Given the description of an element on the screen output the (x, y) to click on. 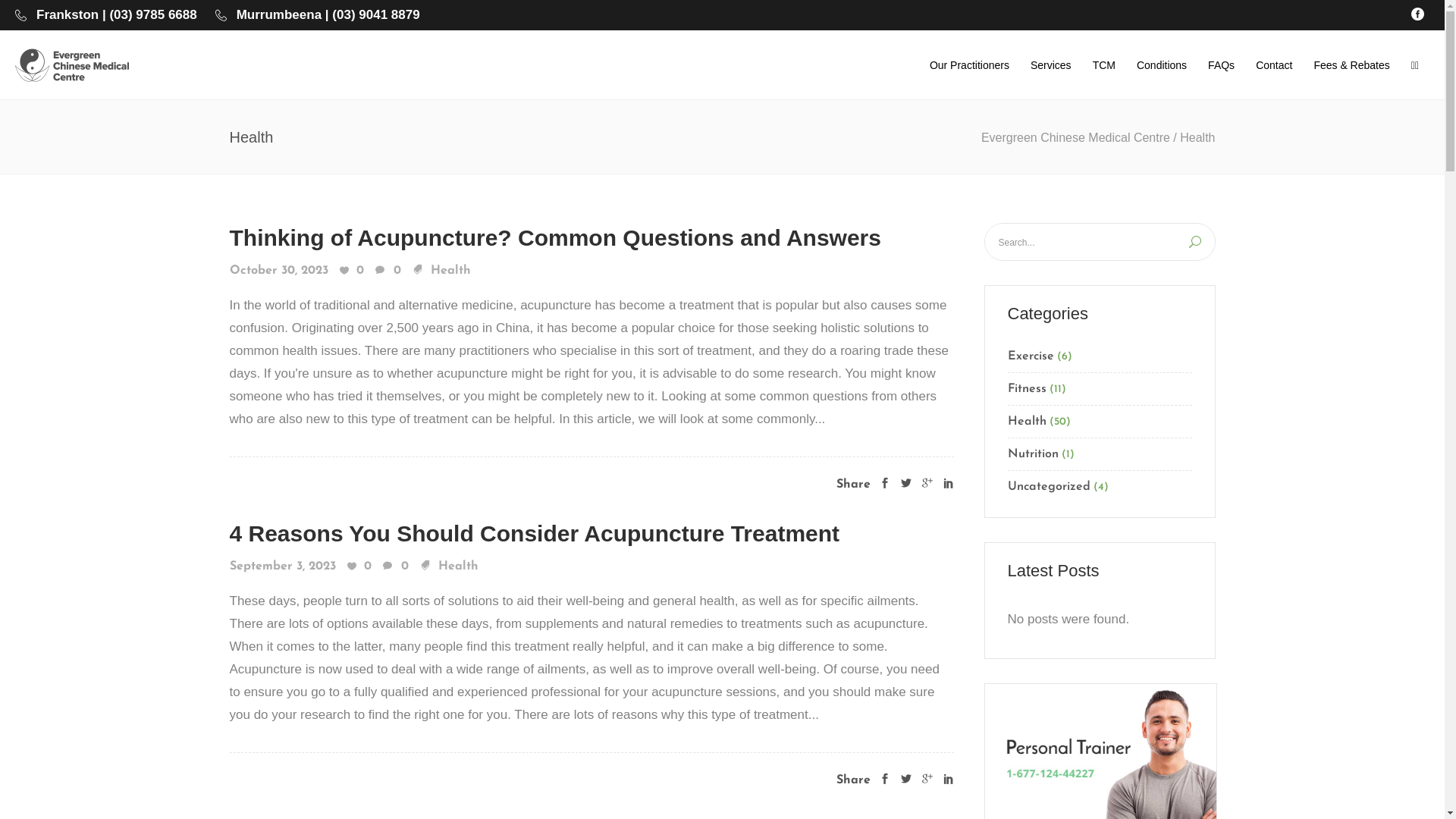
TCM Element type: text (1104, 64)
0 Element type: text (351, 271)
Fees & Rebates Element type: text (1350, 64)
Uncategorized Element type: text (1048, 483)
Health Element type: text (450, 270)
0 Element type: text (394, 566)
Thinking of Acupuncture? Common Questions and Answers Element type: text (554, 237)
U Element type: text (1194, 241)
Health Element type: text (1026, 421)
Evergreen Chinese Medical Centre Element type: text (1075, 137)
Exercise Element type: text (1030, 356)
Services Element type: text (1050, 64)
4 Reasons You Should Consider Acupuncture Treatment Element type: text (534, 533)
Health Element type: text (458, 566)
Contact Element type: text (1273, 64)
Conditions Element type: text (1161, 64)
0 Element type: text (387, 271)
Fitness Element type: text (1026, 388)
FAQs Element type: text (1221, 64)
0 Element type: text (359, 566)
Nutrition Element type: text (1032, 454)
Our Practitioners Element type: text (969, 64)
